Given the description of an element on the screen output the (x, y) to click on. 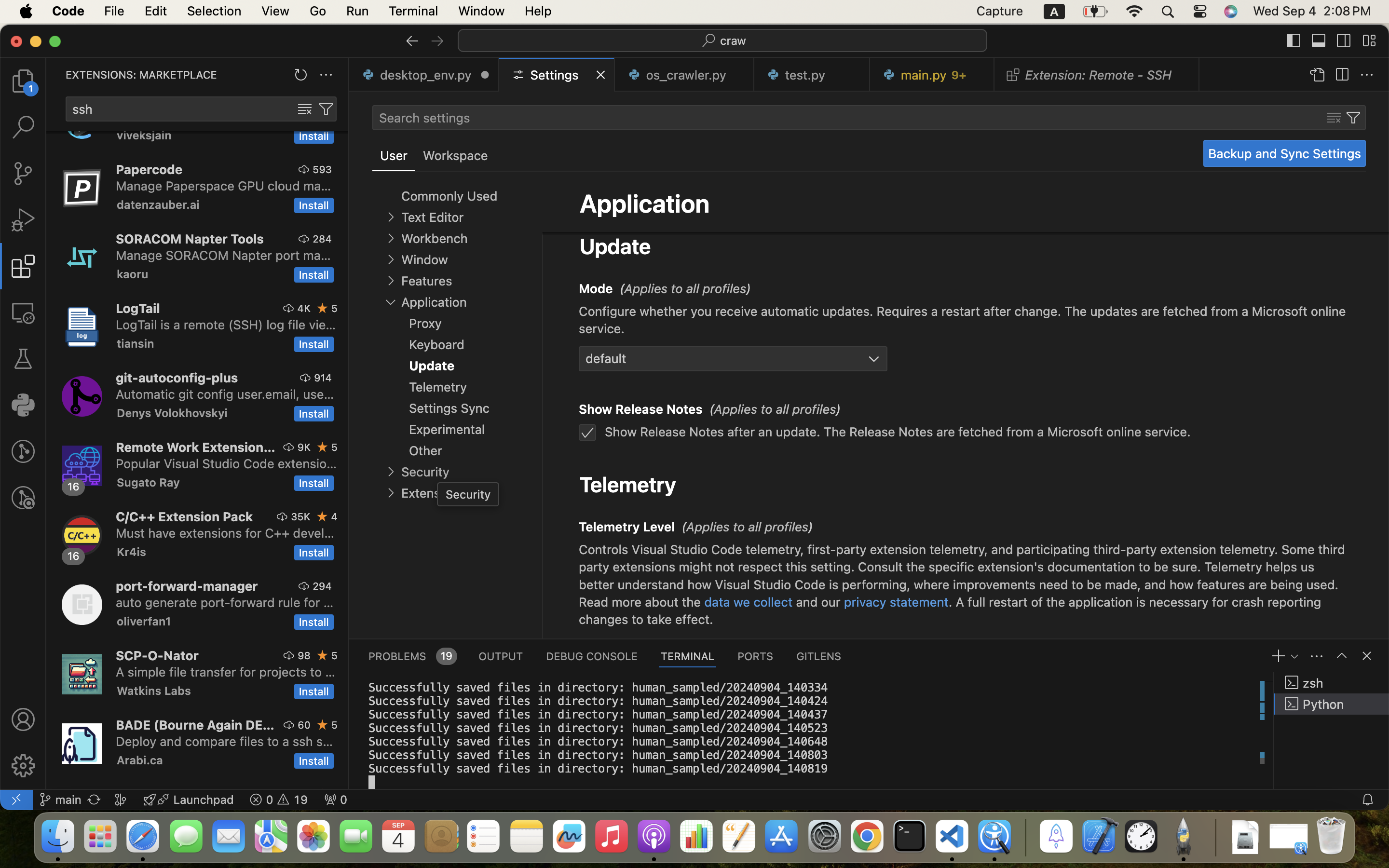
593 Element type: AXStaticText (321, 168)
kaoru Element type: AXStaticText (132, 273)
A simple file transfer for projects to and from servers suporting scp (ssh file transfer). Element type: AXStaticText (225, 671)
0 DEBUG CONSOLE Element type: AXRadioButton (591, 655)
 Element type: AXCheckBox (1341, 655)
